Given the description of an element on the screen output the (x, y) to click on. 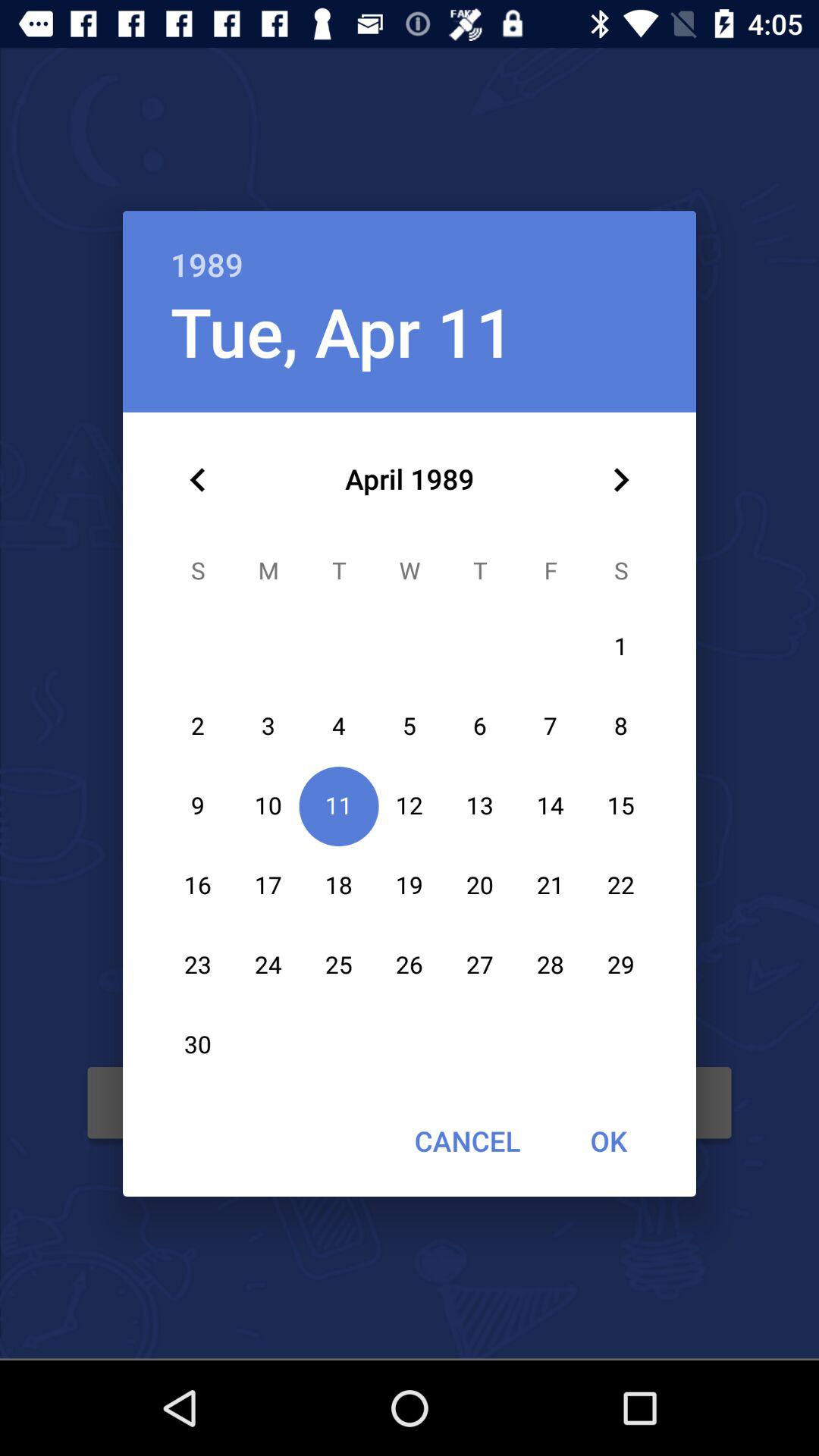
open item below 1989 icon (620, 479)
